Given the description of an element on the screen output the (x, y) to click on. 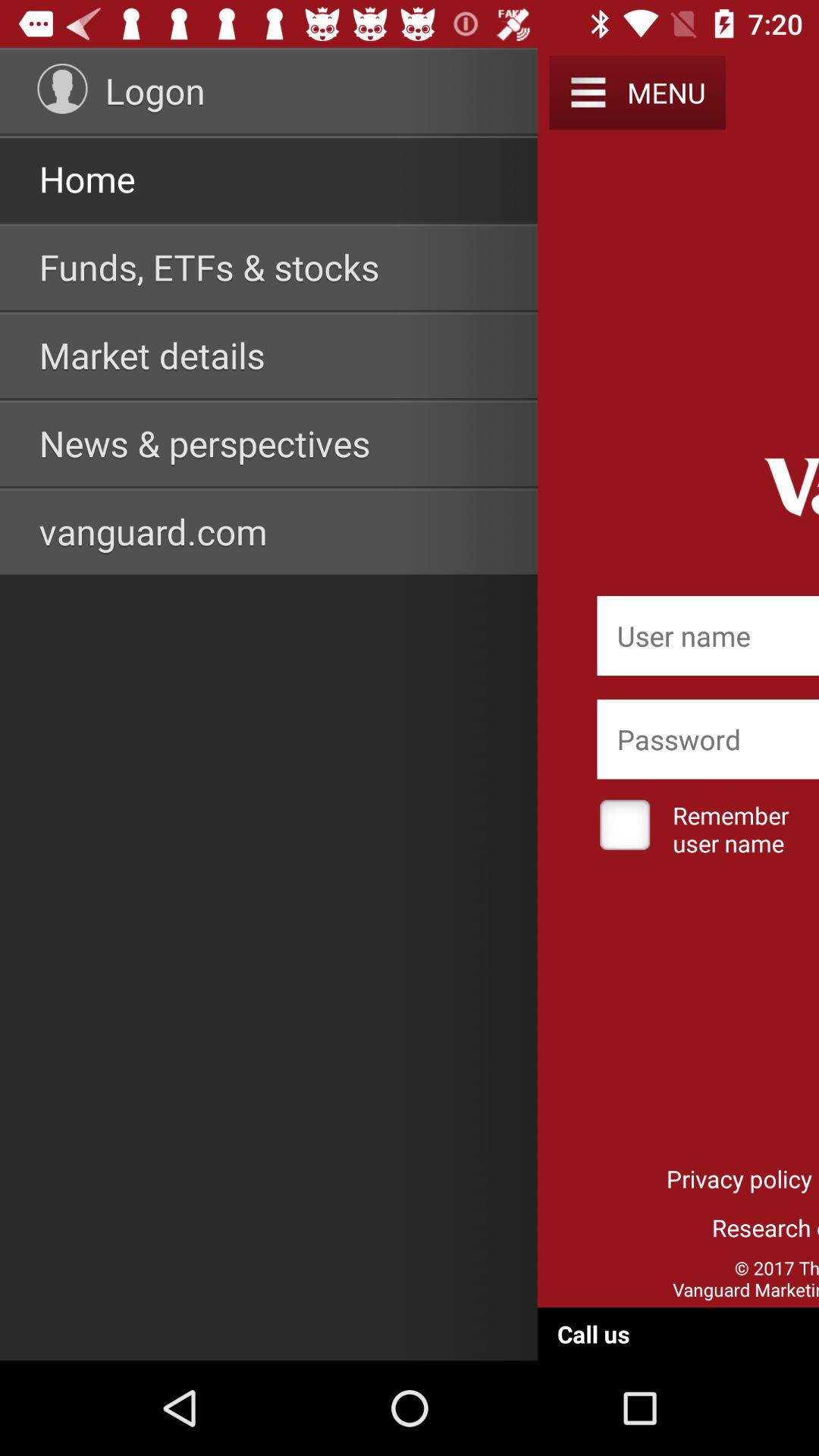
type user name (708, 635)
